Given the description of an element on the screen output the (x, y) to click on. 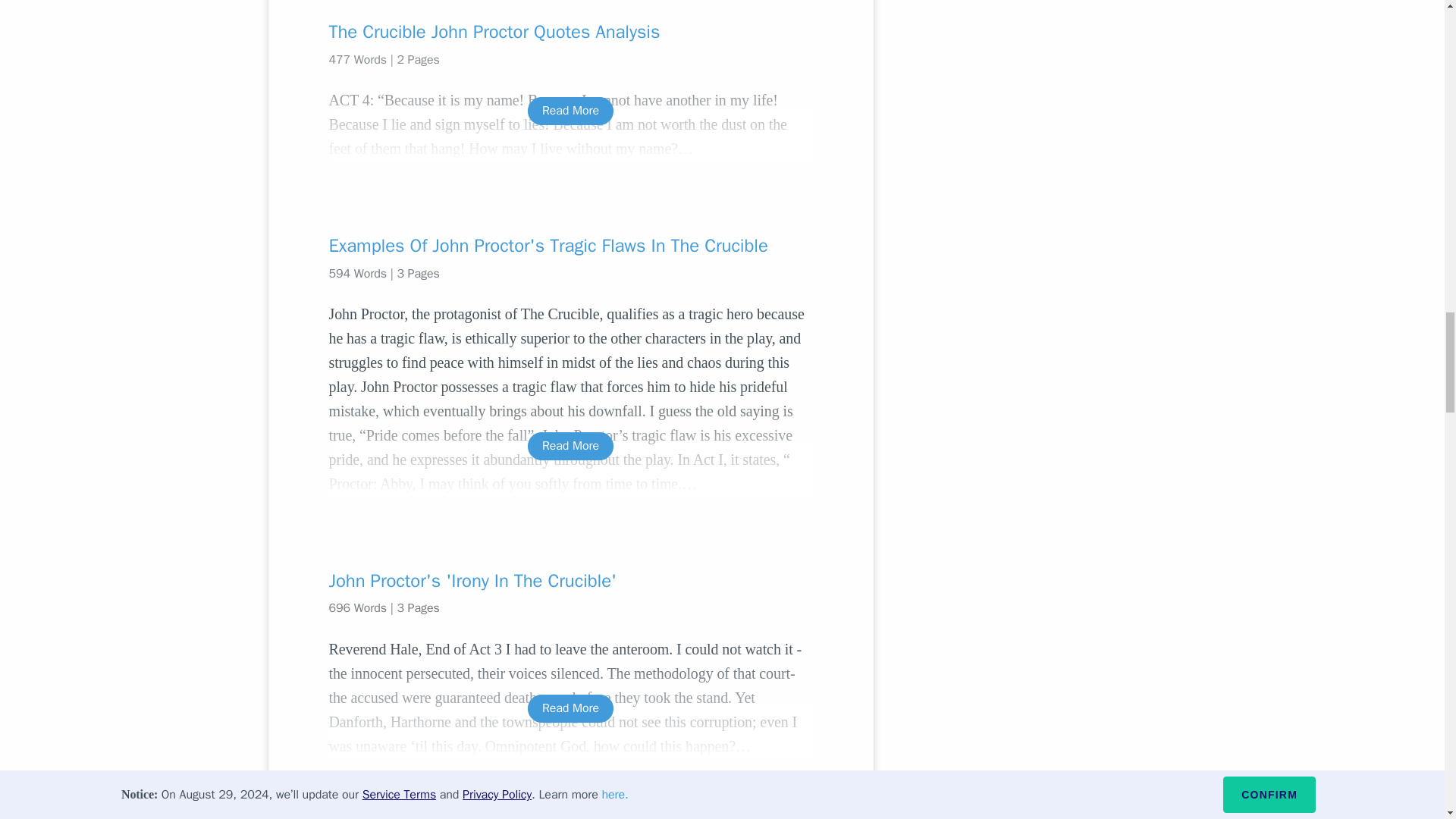
Read More (569, 111)
Examples Of John Proctor's Tragic Flaws In The Crucible (570, 245)
John Proctor's 'Irony In The Crucible' (570, 580)
Read More (569, 708)
The Crucible John Proctor Quotes Analysis (570, 31)
Read More (569, 446)
